Given the description of an element on the screen output the (x, y) to click on. 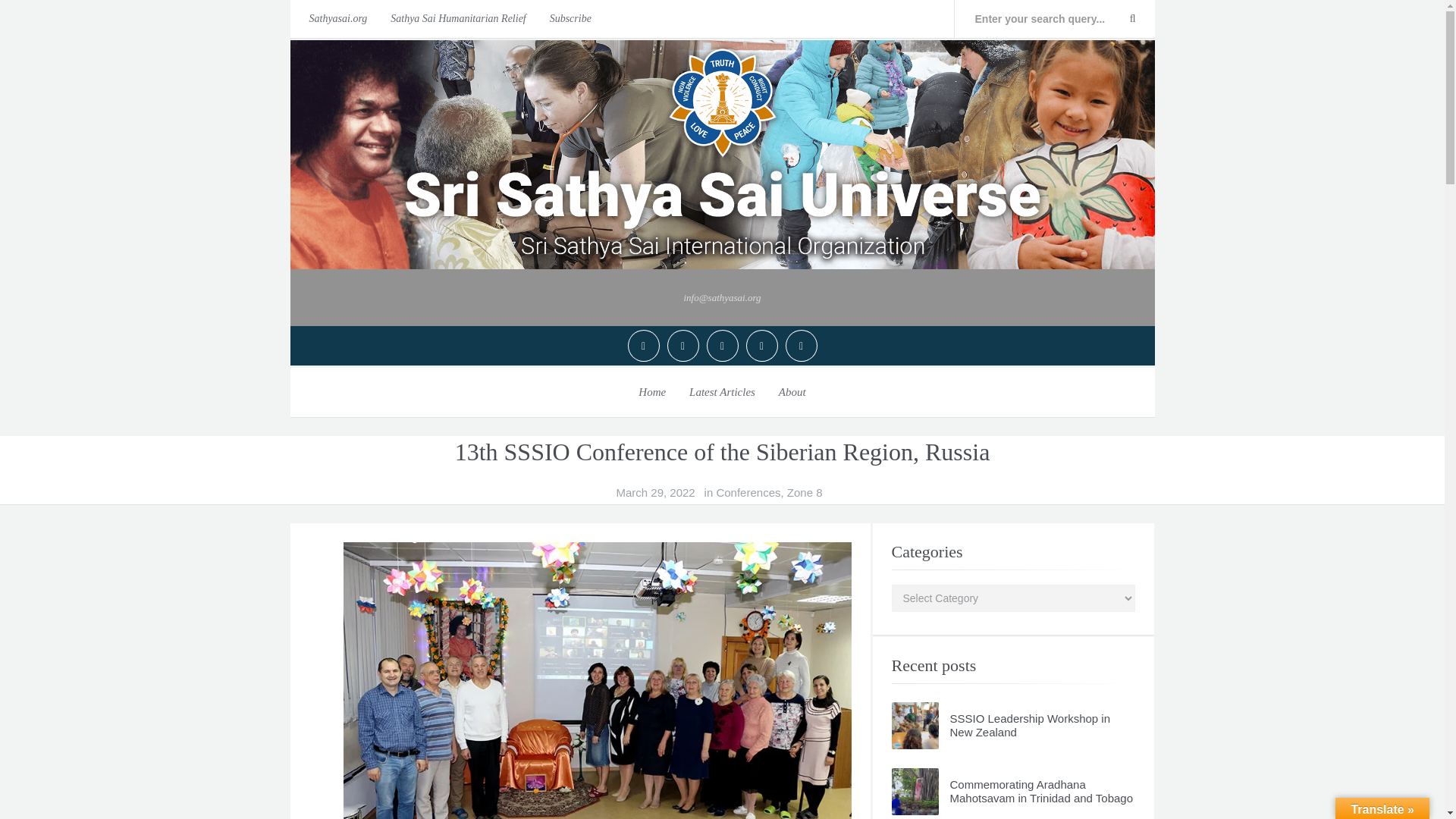
Sathyasai.org (333, 18)
Subscribe to emails (570, 18)
About (791, 391)
Conferences (748, 492)
Sathya Sai Humanitarian Relief (457, 18)
Home (652, 391)
Latest Articles (722, 391)
Subscribe (570, 18)
Zone 8 (804, 492)
